Given the description of an element on the screen output the (x, y) to click on. 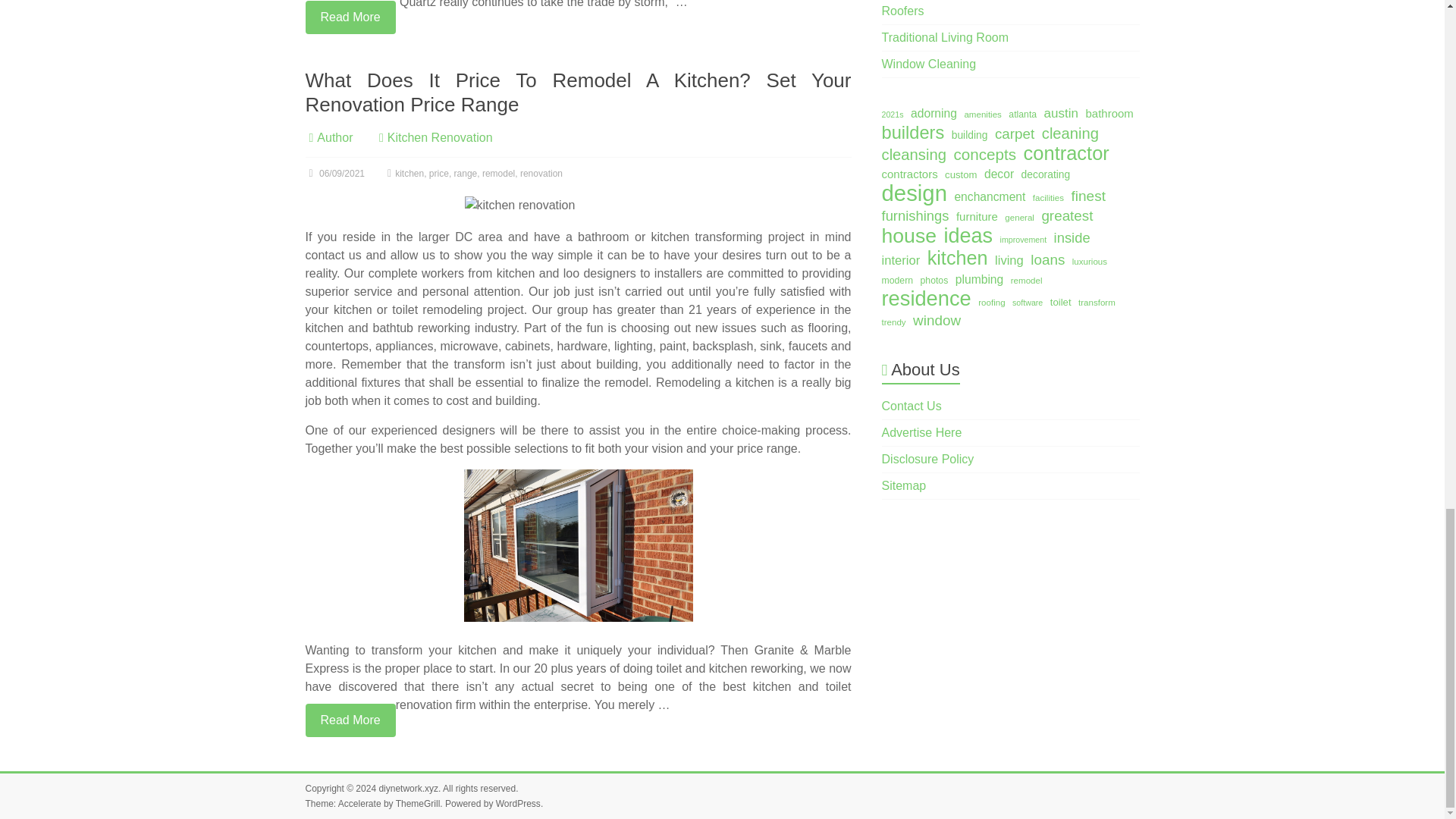
00:47 (334, 173)
Author (334, 137)
Accelerate (359, 803)
Read More (349, 17)
Author (334, 137)
WordPress (518, 803)
diynetwork.xyz (408, 787)
